Given the description of an element on the screen output the (x, y) to click on. 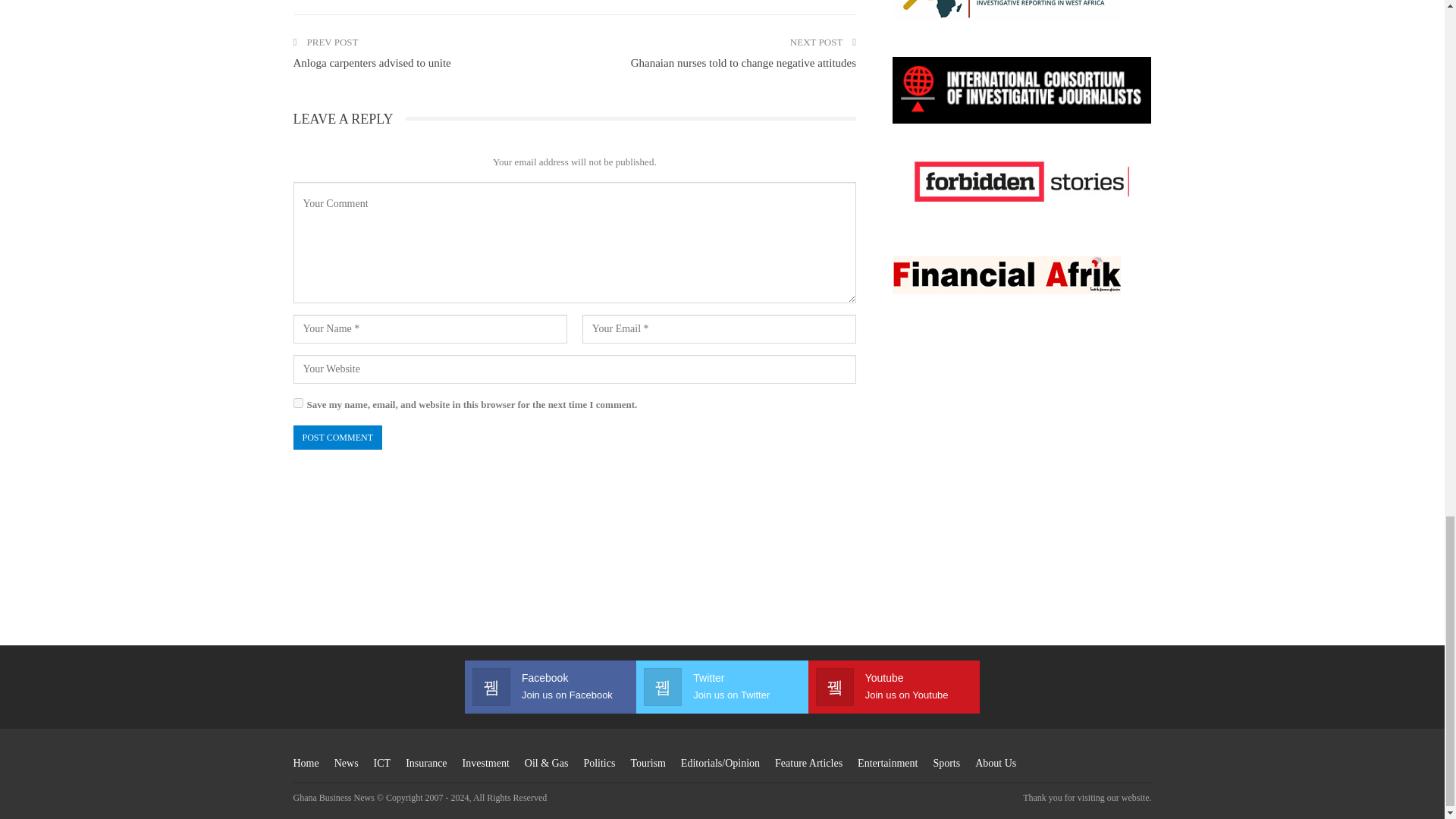
Anloga carpenters advised to unite (370, 62)
yes (297, 402)
Ghanaian nurses told to change negative attitudes (743, 62)
Post Comment (336, 437)
